Given the description of an element on the screen output the (x, y) to click on. 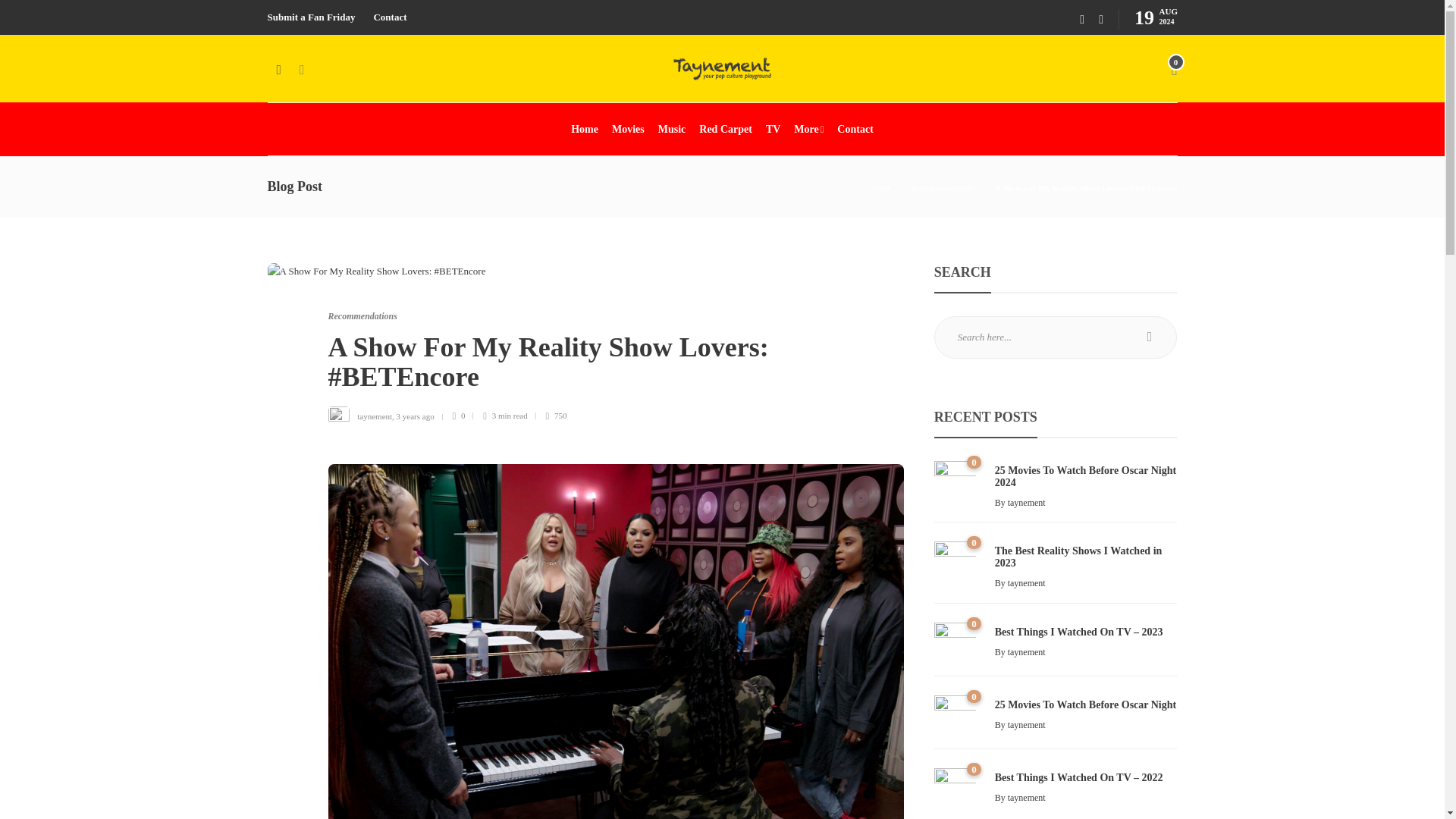
Red Carpet (725, 129)
Submit a Fan Friday (310, 17)
Home (880, 187)
Search text (1055, 337)
Contact (389, 17)
